Given the description of an element on the screen output the (x, y) to click on. 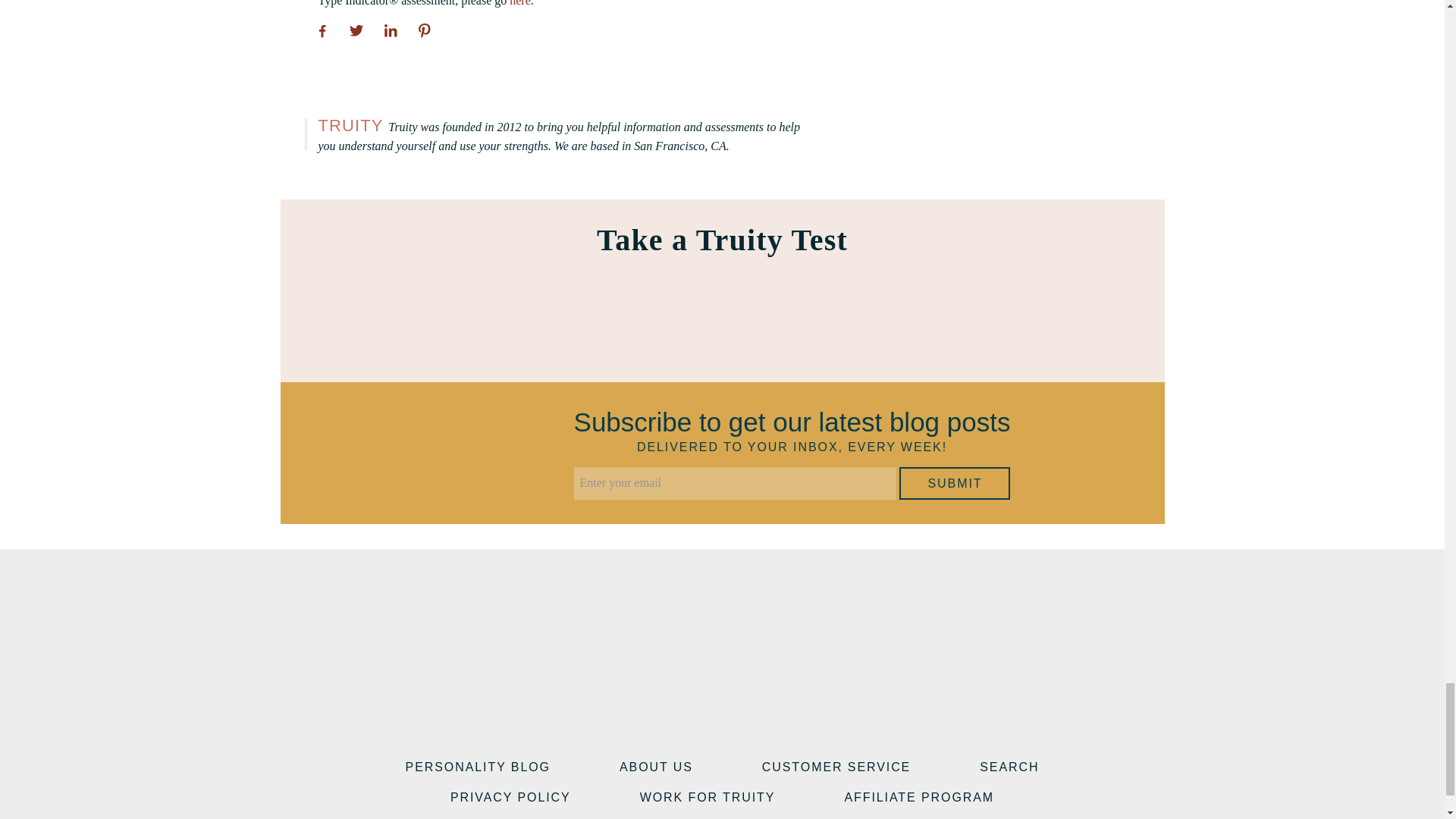
Twitter (355, 31)
LinkedIn (389, 31)
Facebook (648, 705)
Facebook (320, 31)
Home (721, 615)
YouTube (721, 705)
Pinterest (424, 31)
Twitter (684, 705)
